Given the description of an element on the screen output the (x, y) to click on. 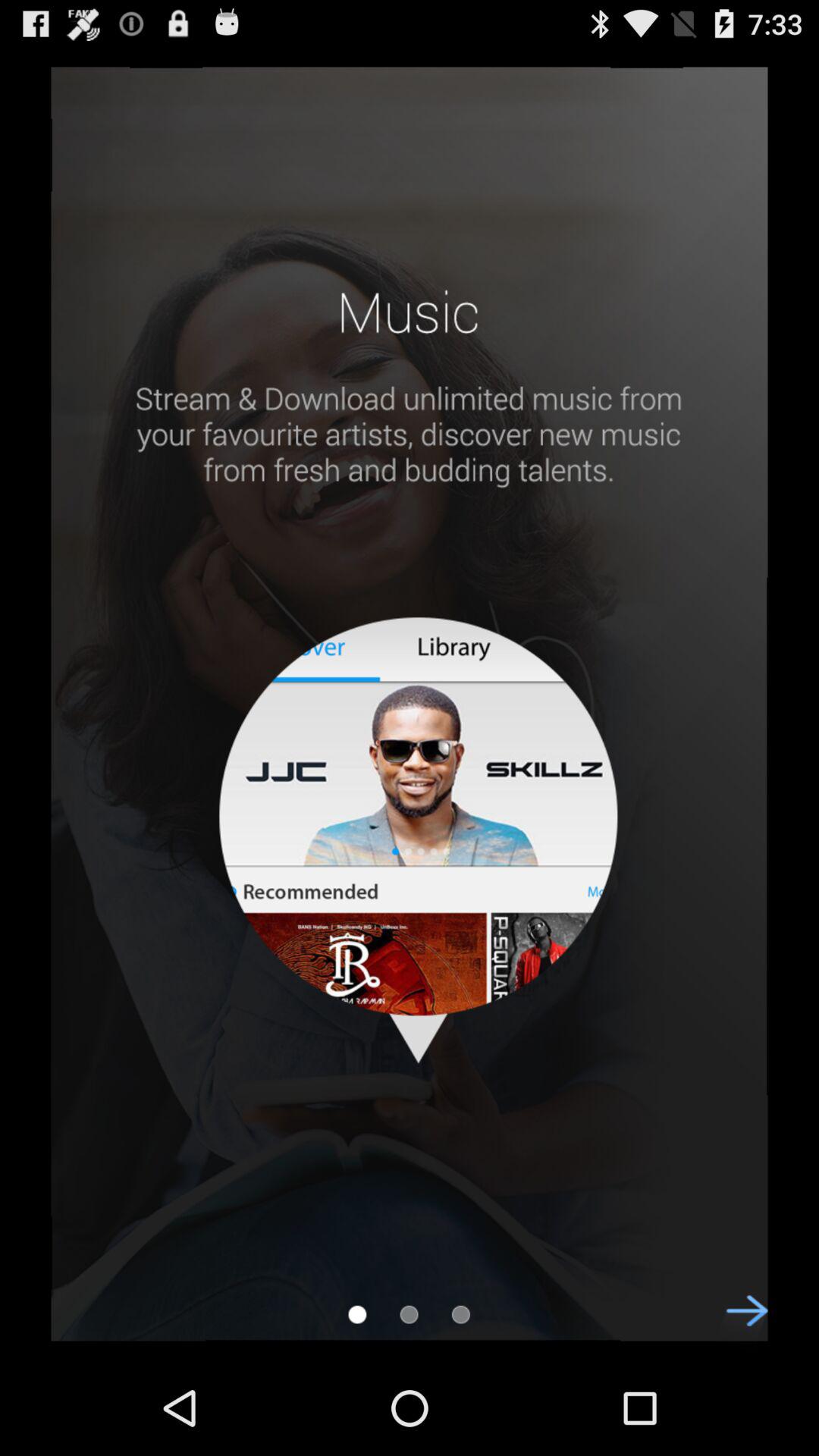
bookmark (357, 1314)
